Given the description of an element on the screen output the (x, y) to click on. 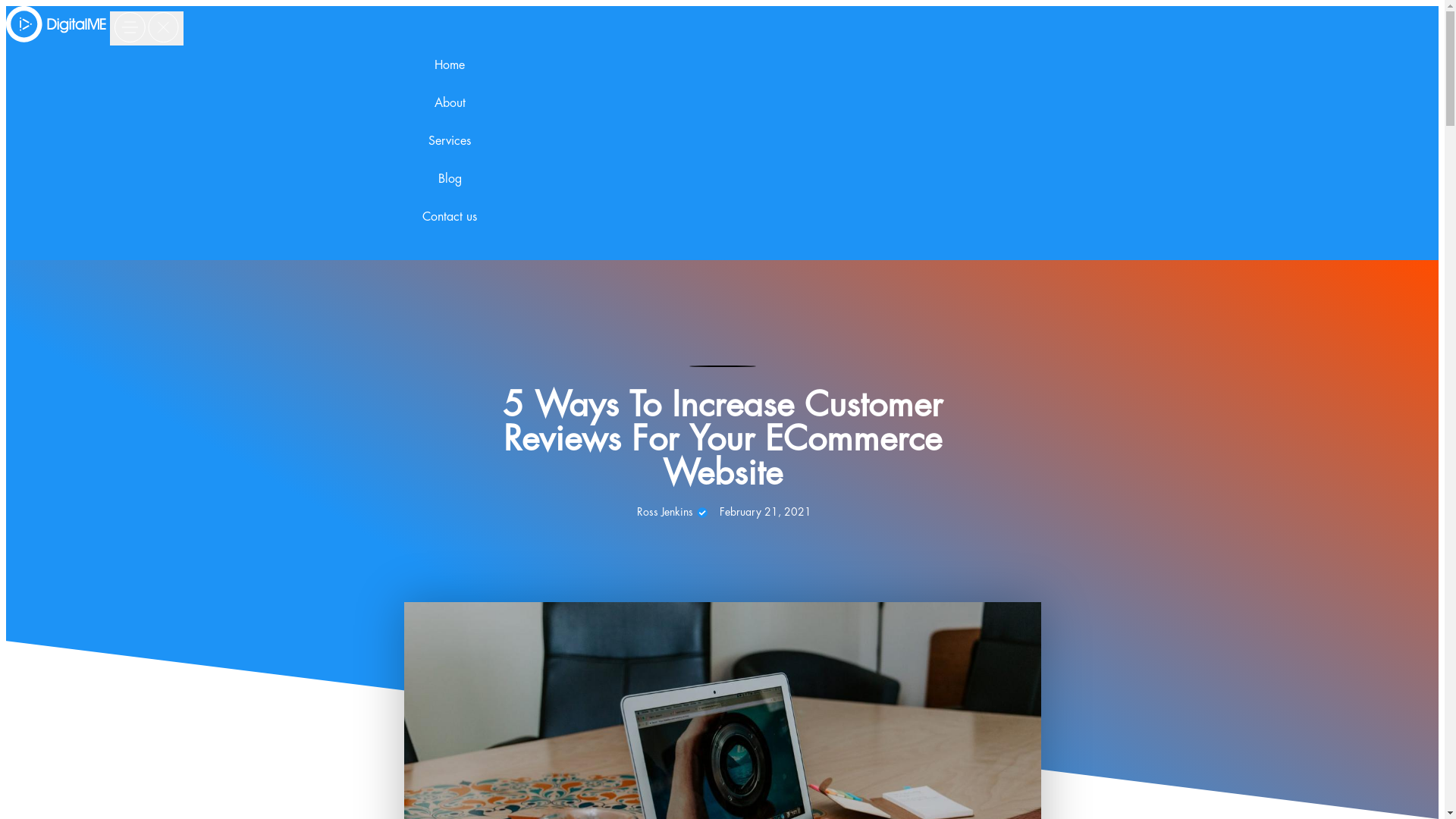
February 21, 2021 Element type: text (765, 511)
Ross Jenkins Element type: text (670, 511)
Blog Element type: text (449, 191)
Contact us Element type: text (449, 228)
Services Element type: text (449, 153)
About Element type: text (449, 115)
Home Element type: text (449, 77)
